Given the description of an element on the screen output the (x, y) to click on. 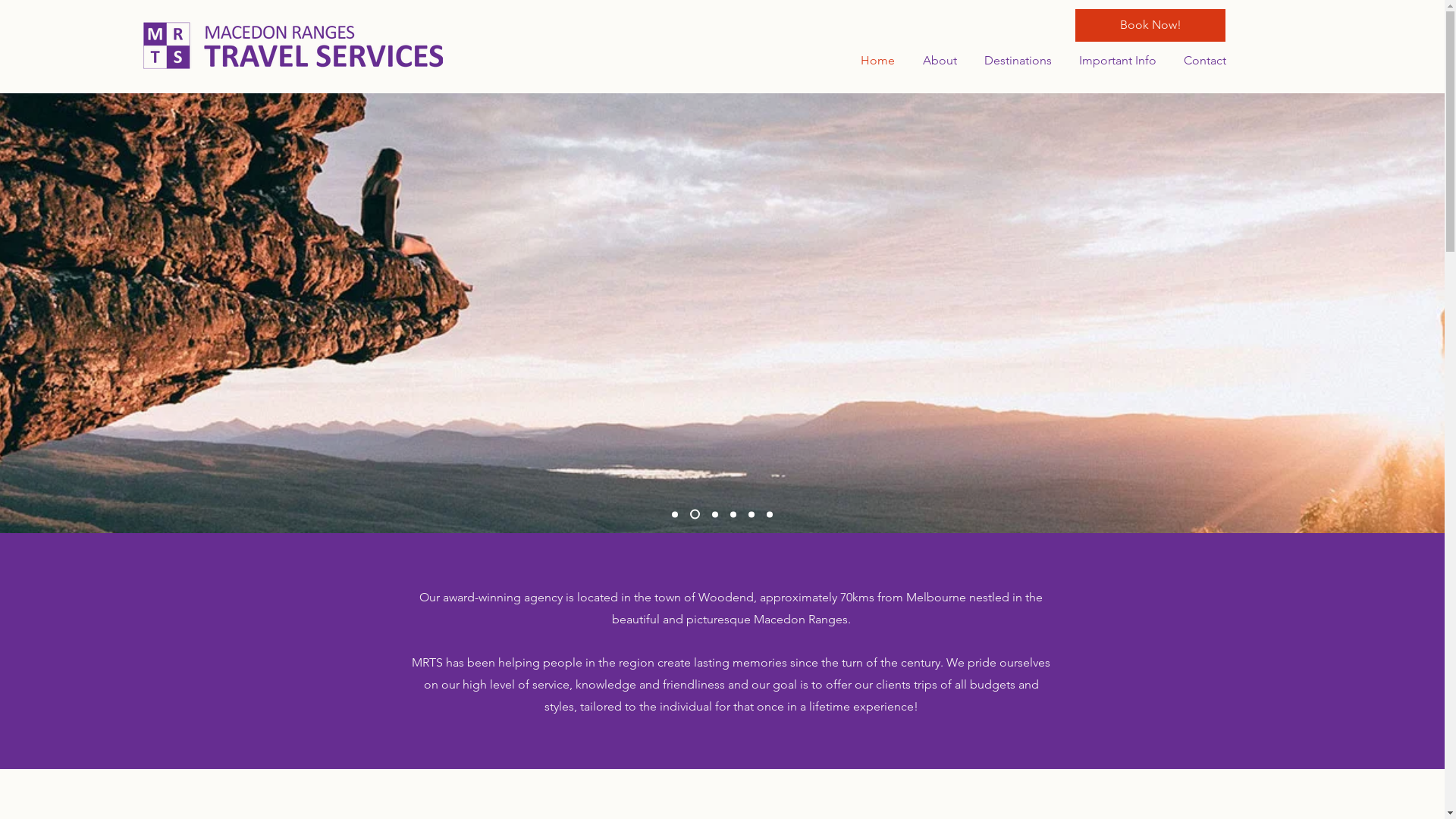
Important Info Element type: text (1115, 60)
Contact Element type: text (1202, 60)
About Element type: text (937, 60)
Destinations Element type: text (1015, 60)
Home Element type: text (875, 60)
Book Now! Element type: text (1150, 25)
